Given the description of an element on the screen output the (x, y) to click on. 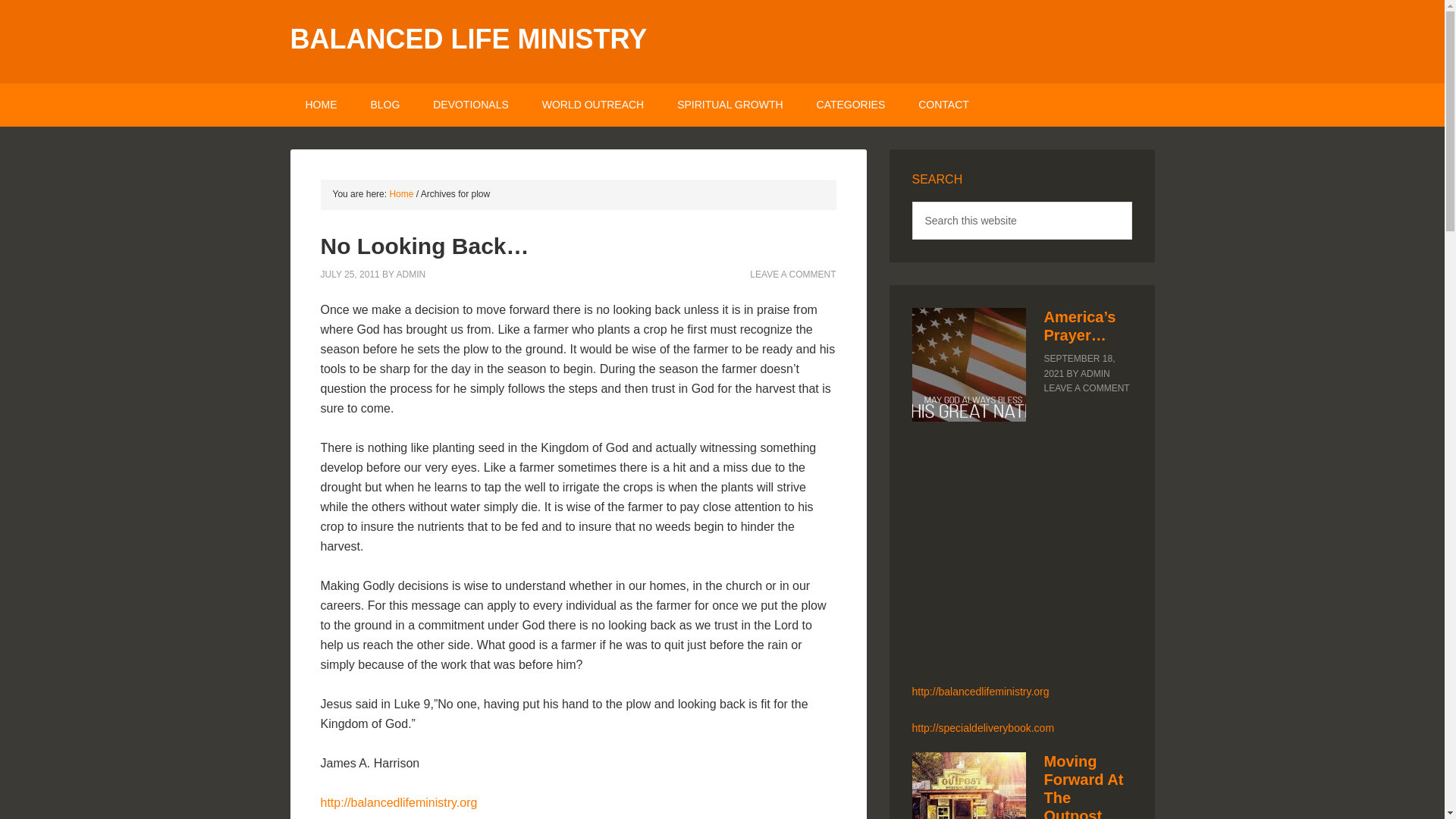
CONTACT (943, 104)
LEAVE A COMMENT (792, 273)
BALANCED LIFE MINISTRY (467, 38)
Home (400, 194)
BLOG (384, 104)
WORLD OUTREACH (593, 104)
CATEGORIES (851, 104)
HOME (320, 104)
ADMIN (411, 273)
SPIRITUAL GROWTH (729, 104)
DEVOTIONALS (470, 104)
